Given the description of an element on the screen output the (x, y) to click on. 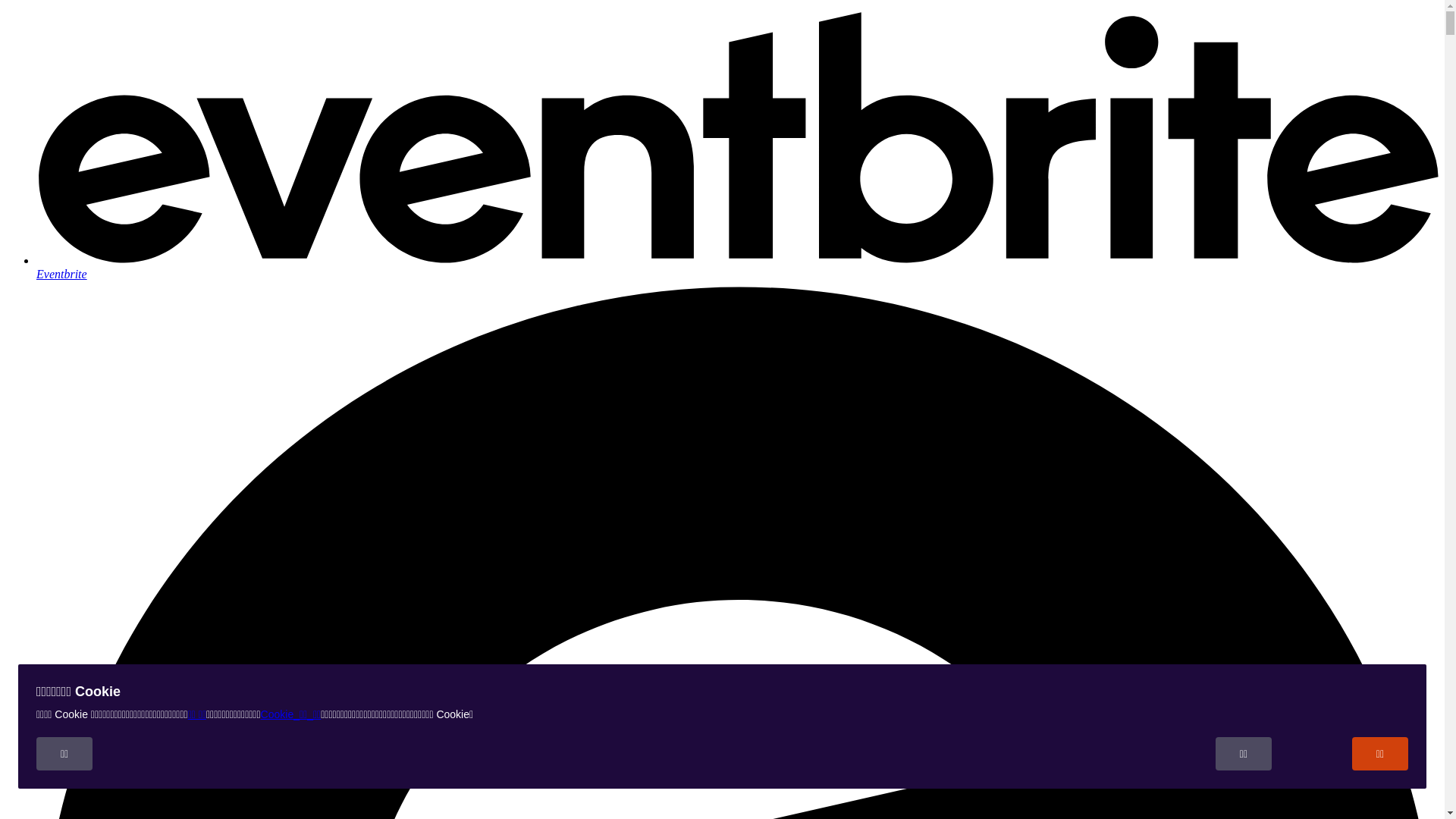
Eventbrite Element type: text (737, 267)
